Given the description of an element on the screen output the (x, y) to click on. 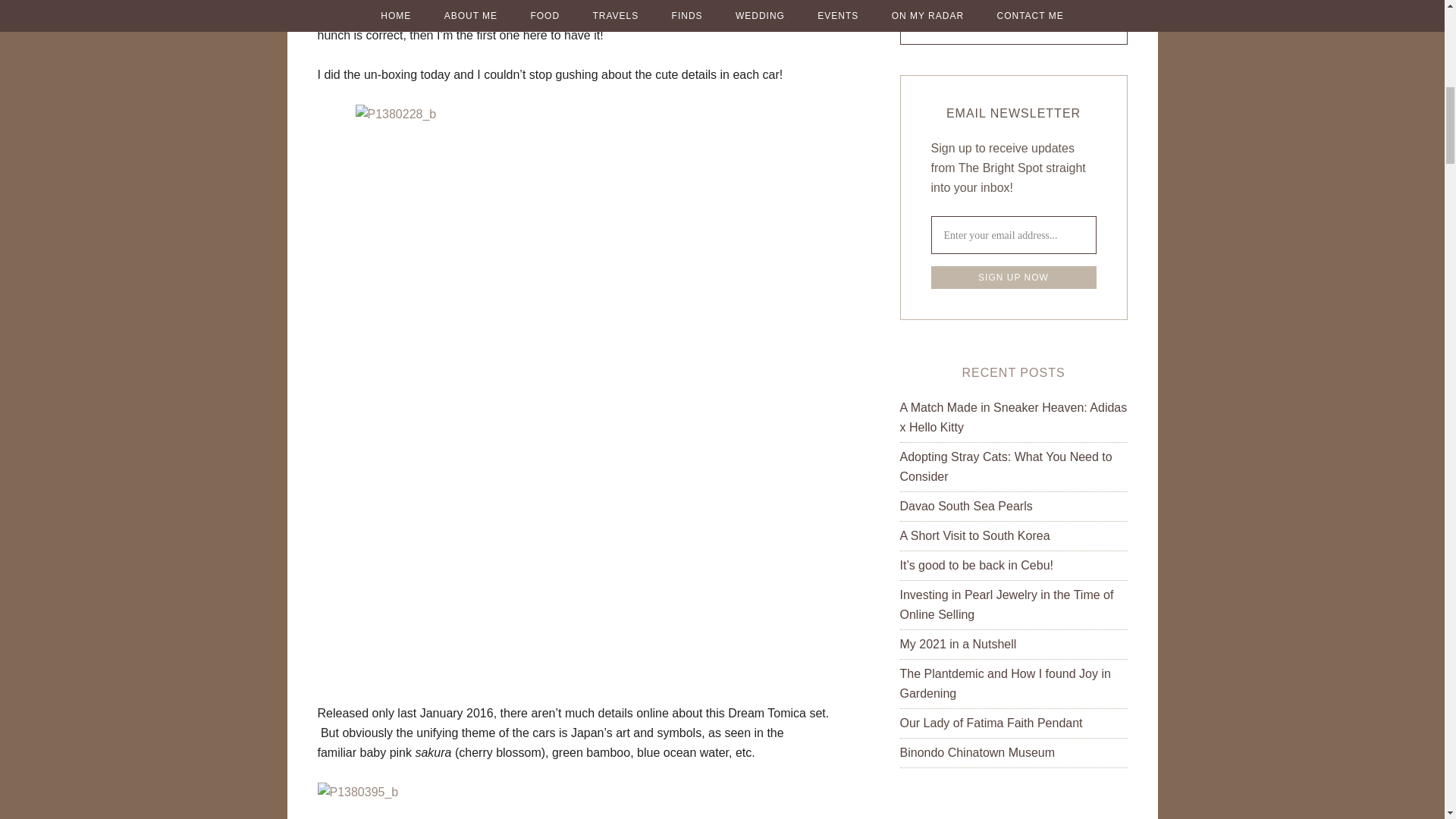
Sign Up Now (1013, 277)
